Given the description of an element on the screen output the (x, y) to click on. 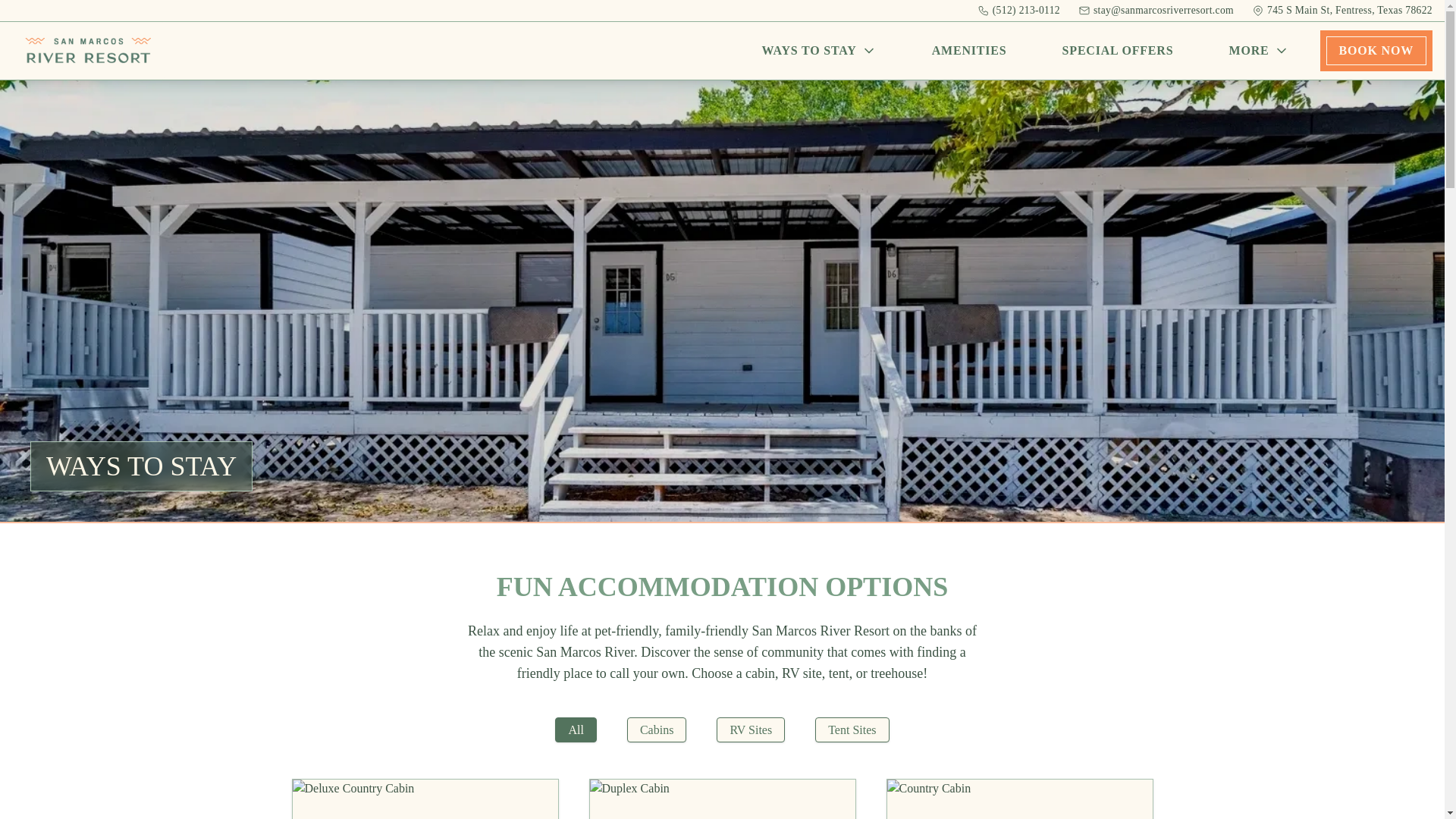
Cabins (656, 729)
SPECIAL OFFERS (1117, 50)
All (574, 729)
AMENITIES (969, 50)
BOOK NOW (1376, 50)
745 S Main St, Fentress, Texas 78622 (1342, 10)
RV Sites (750, 729)
